Given the description of an element on the screen output the (x, y) to click on. 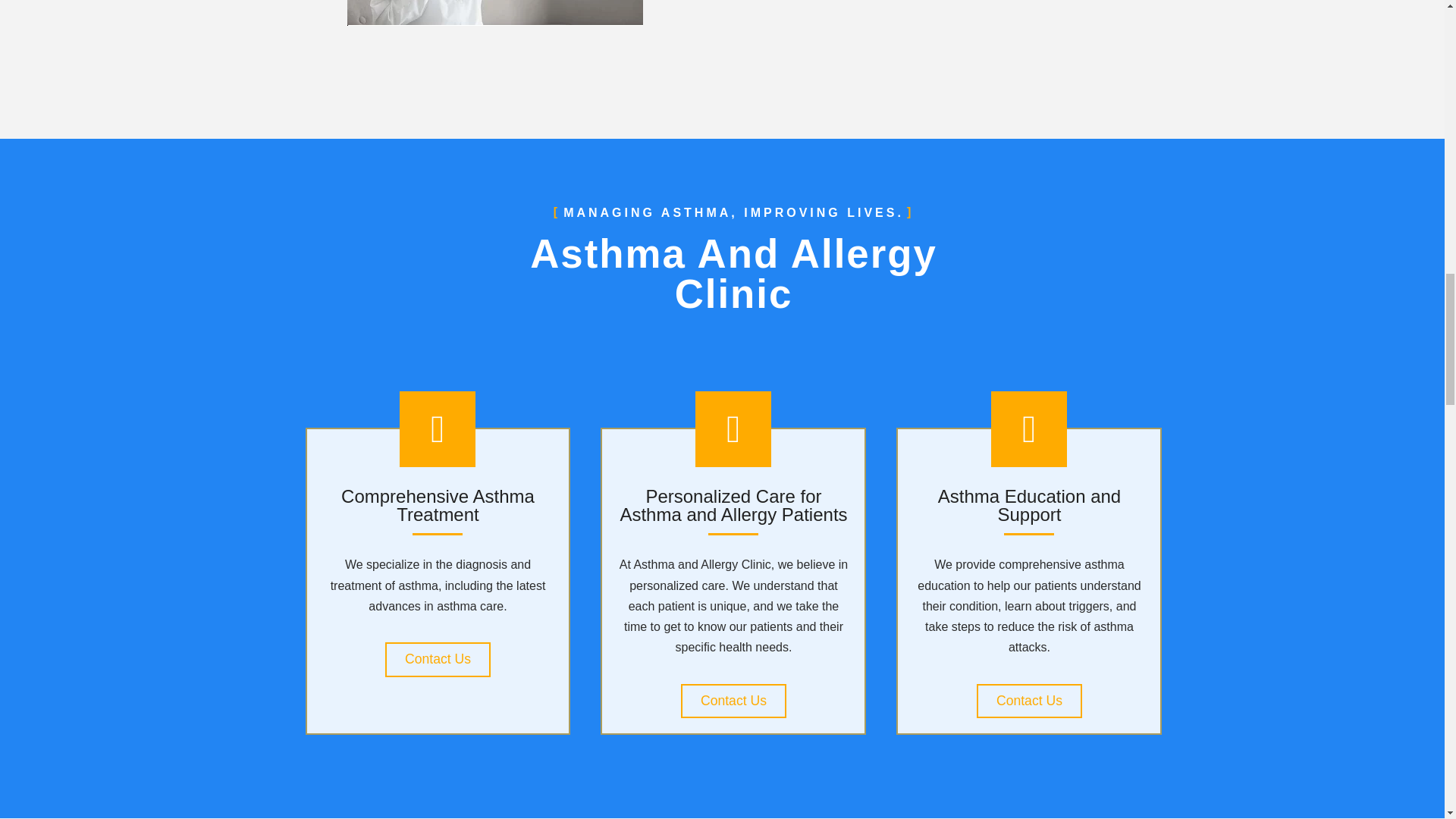
Contact Us (733, 701)
Contact Us (437, 659)
Contact Us (1028, 701)
